Given the description of an element on the screen output the (x, y) to click on. 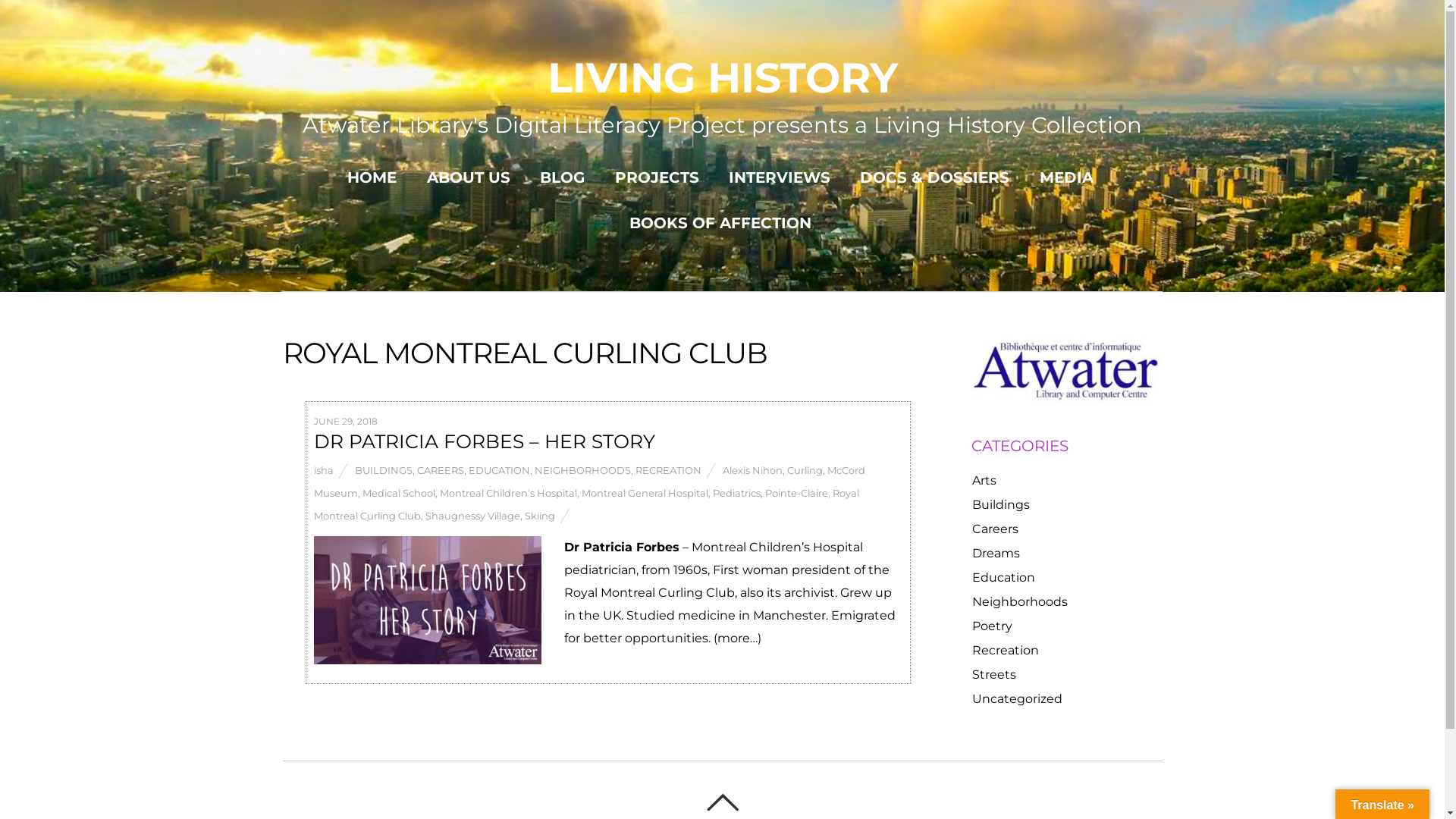
EDUCATION Element type: text (499, 470)
Dreams Element type: text (995, 553)
LIVING HISTORY Element type: text (722, 77)
Education Element type: text (1003, 577)
Recreation Element type: text (1005, 650)
PROJECTS Element type: text (656, 177)
ABOUT US Element type: text (468, 177)
Medical School Element type: text (398, 492)
DOCS & DOSSIERS Element type: text (934, 177)
Uncategorized Element type: text (1017, 698)
Arts Element type: text (984, 480)
BLOG Element type: text (562, 177)
INTERVIEWS Element type: text (779, 177)
Poetry Element type: text (992, 625)
Neighborhoods Element type: text (1019, 601)
McCord Museum Element type: text (589, 481)
RECREATION Element type: text (668, 470)
Careers Element type: text (995, 528)
BOOKS OF AFFECTION Element type: text (720, 222)
Skiing Element type: text (539, 515)
Streets Element type: text (994, 674)
Shaugnessy Village Element type: text (471, 515)
Montreal Children's Hospital Element type: text (508, 492)
NEIGHBORHOODS Element type: text (581, 470)
MEDIA Element type: text (1066, 177)
BUILDINGS Element type: text (383, 470)
Montreal General Hospital Element type: text (643, 492)
isha Element type: text (323, 470)
Royal Montreal Curling Club Element type: text (586, 503)
HOME Element type: text (371, 177)
Buildings Element type: text (1000, 504)
CAREERS Element type: text (440, 470)
Curling Element type: text (804, 470)
Pointe-Claire Element type: text (795, 492)
Alexis Nihon Element type: text (751, 470)
Pediatrics Element type: text (736, 492)
